Given the description of an element on the screen output the (x, y) to click on. 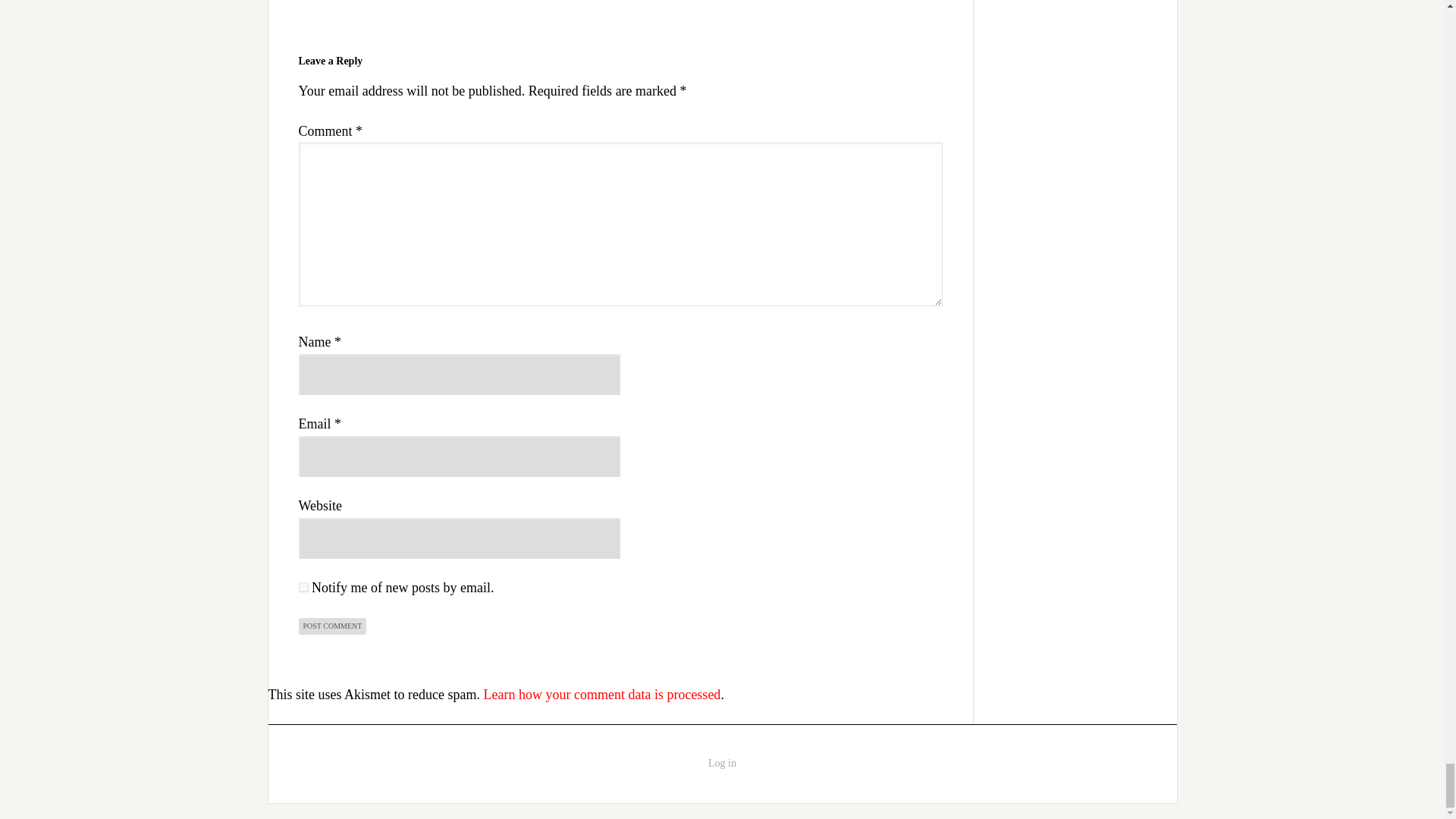
Post Comment (332, 626)
subscribe (303, 587)
